Given the description of an element on the screen output the (x, y) to click on. 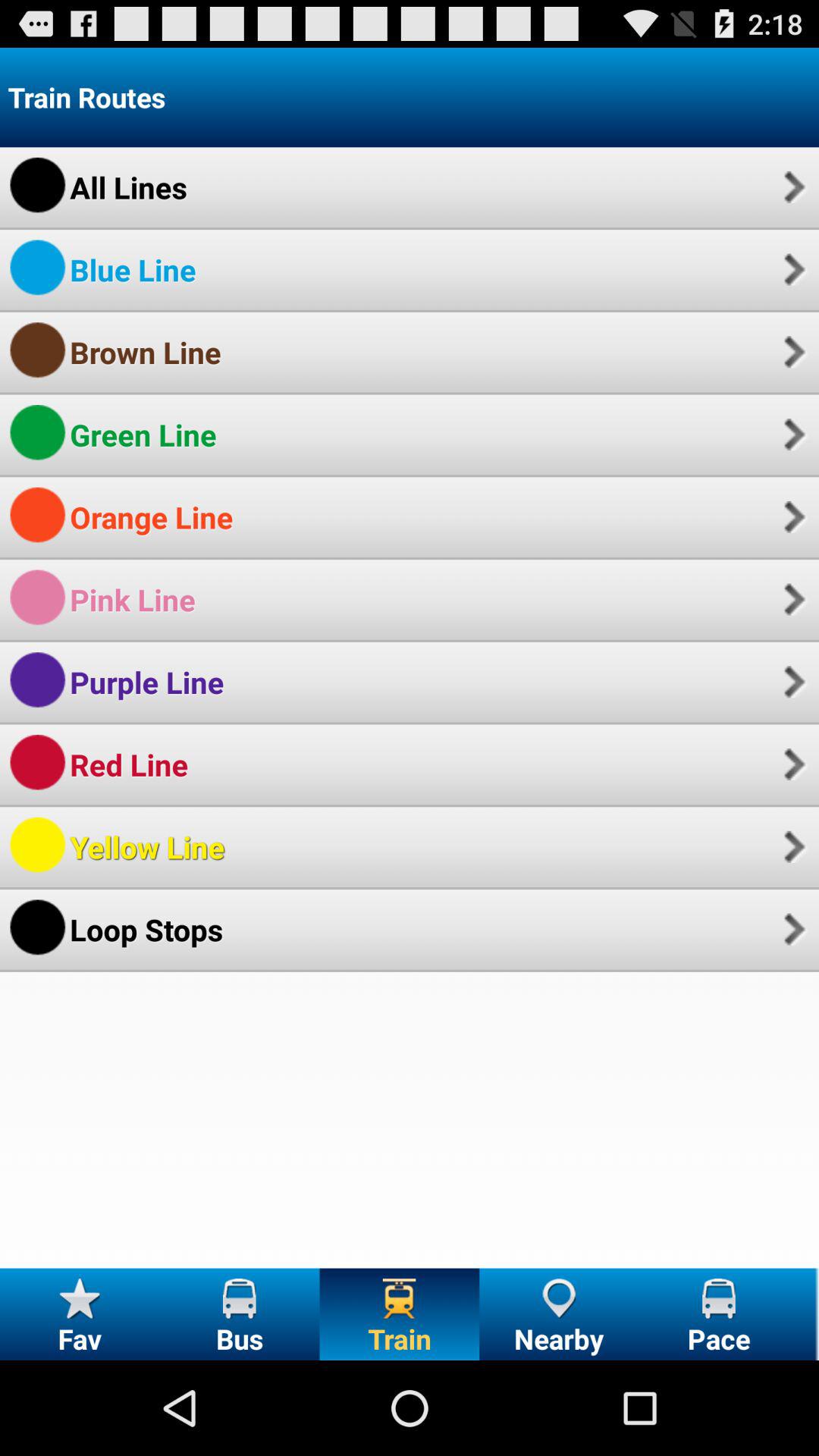
select app next to the red line item (792, 764)
